Given the description of an element on the screen output the (x, y) to click on. 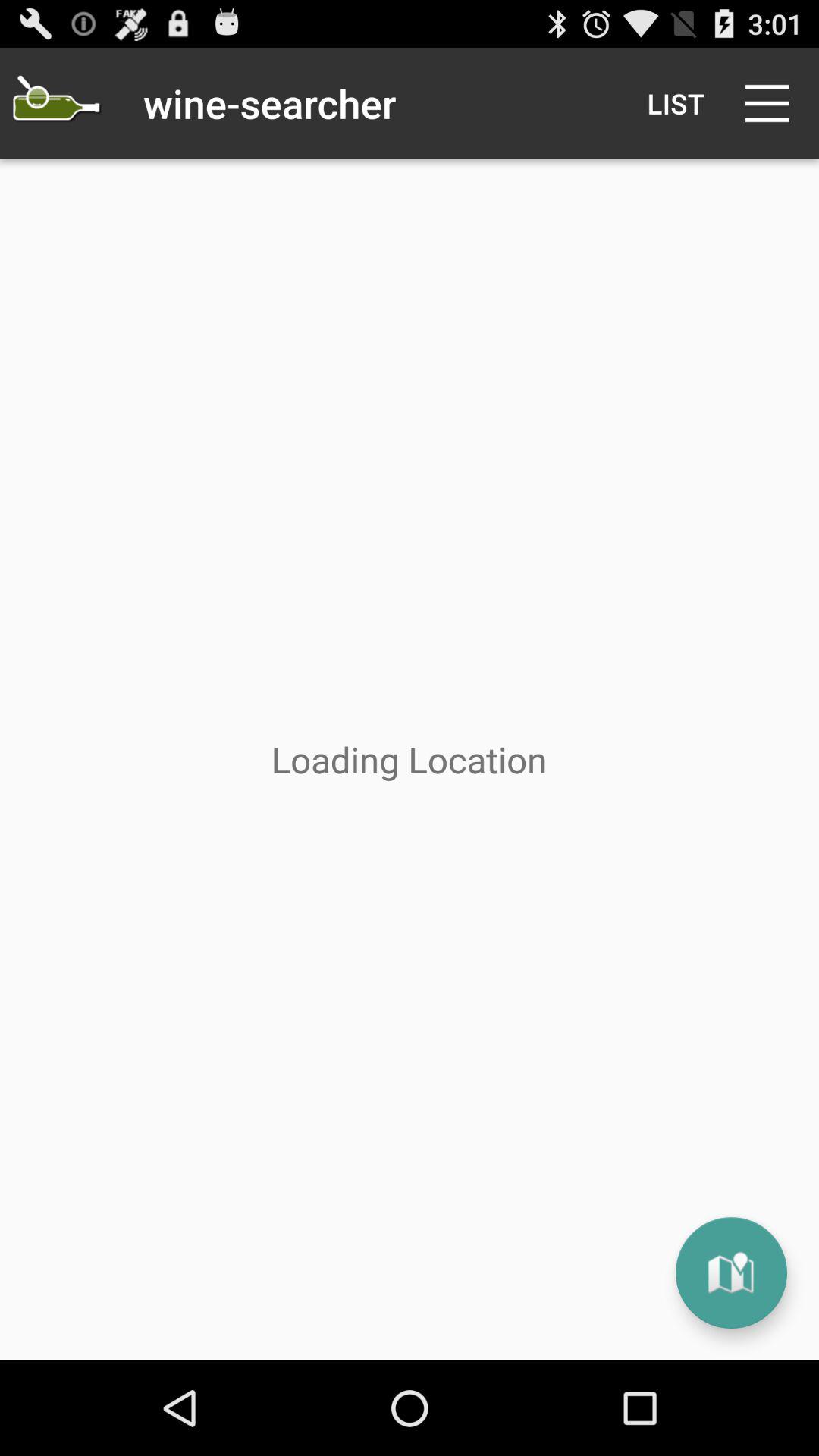
search (55, 103)
